Given the description of an element on the screen output the (x, y) to click on. 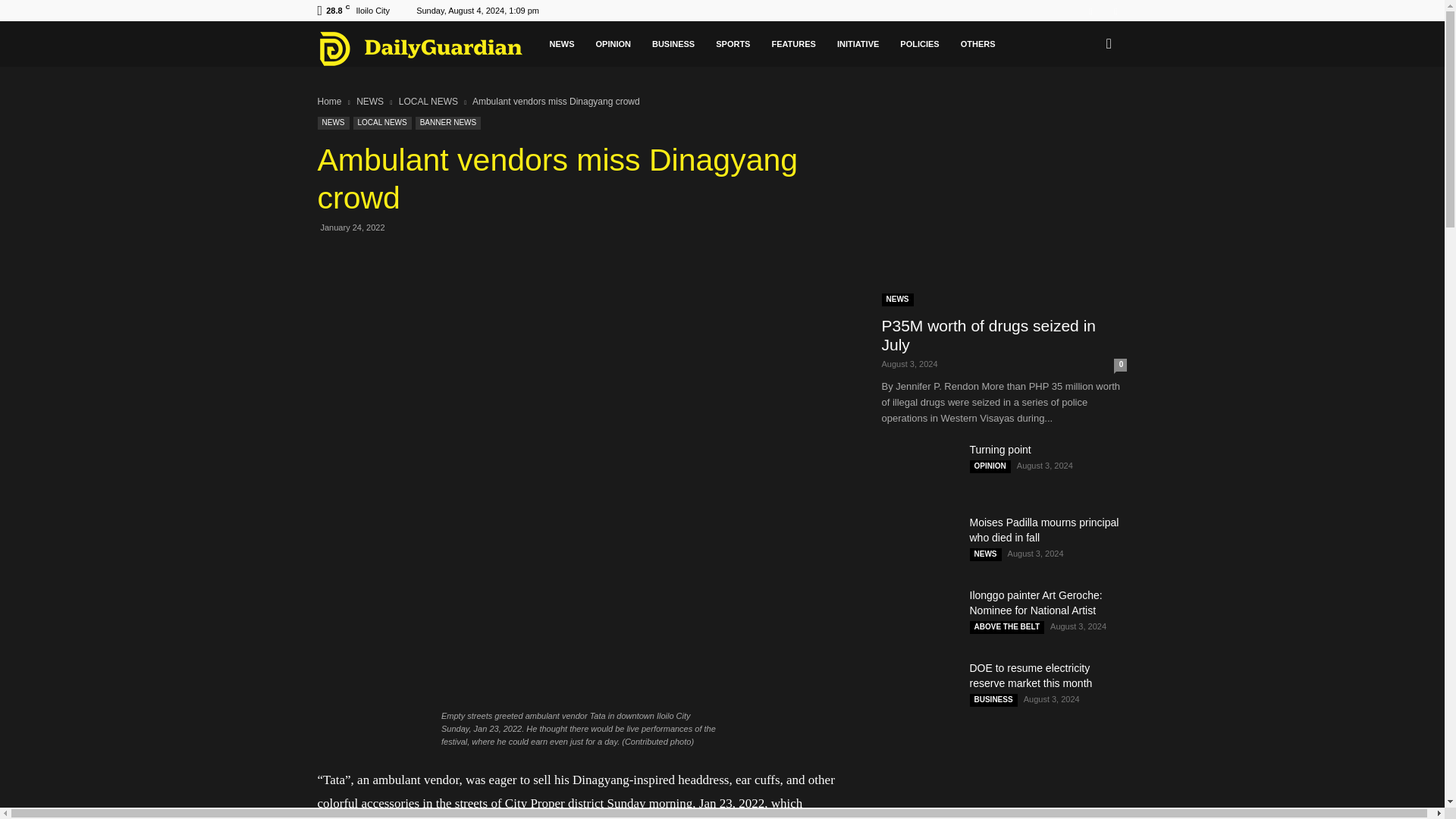
Twitter (1114, 10)
NEWS (561, 43)
Facebook (1090, 10)
Daily Guardian (427, 47)
We write, you decide. (419, 48)
